Given the description of an element on the screen output the (x, y) to click on. 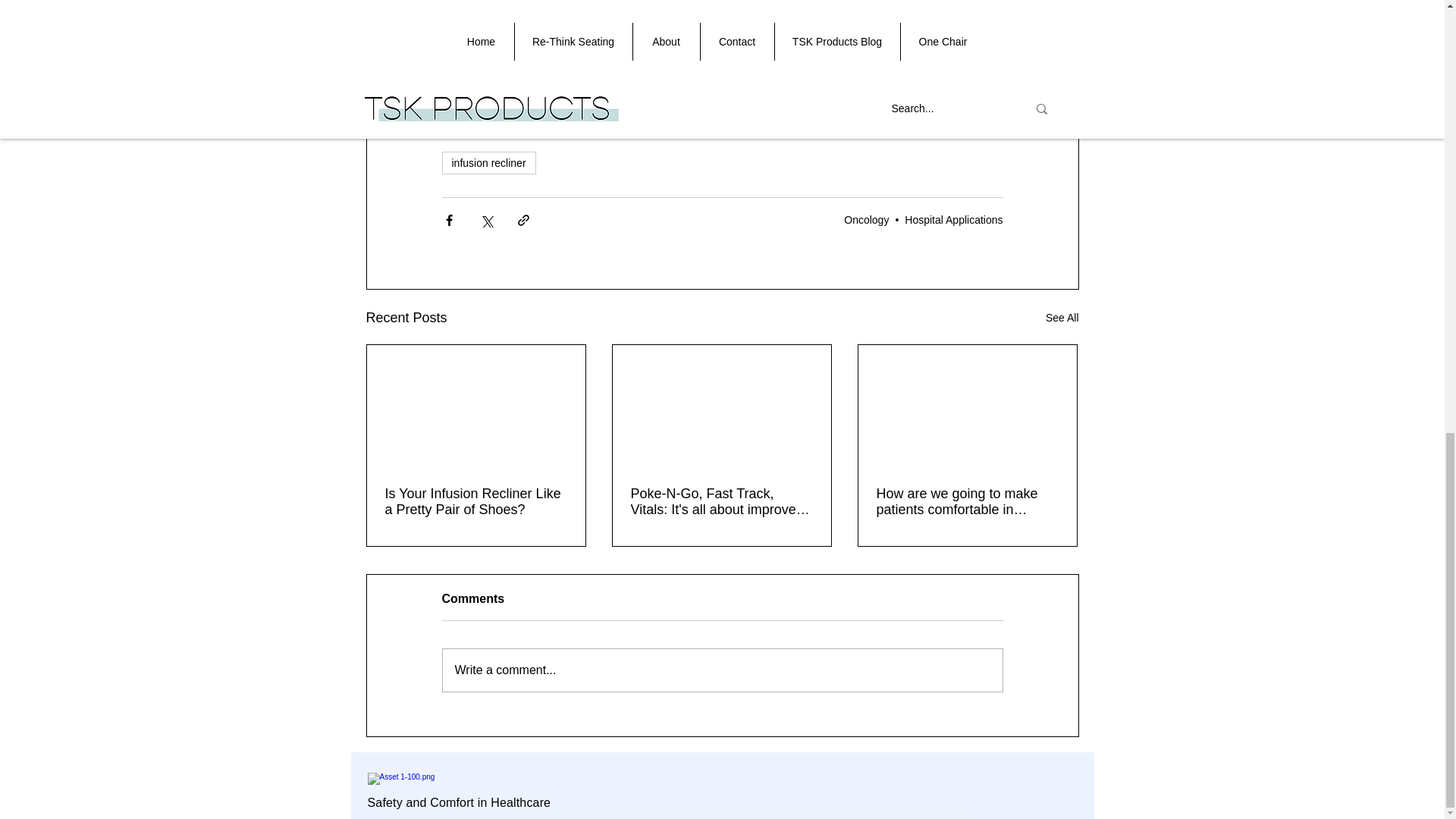
Hospital Applications (953, 219)
Write a comment... (722, 670)
Asset 1-100.png (452, 781)
See All (1061, 318)
Oncology (866, 219)
Is Your Infusion Recliner Like a Pretty Pair of Shoes? (476, 501)
infusion recliner (488, 162)
How are we going to make patients comfortable in recliners? (967, 501)
